Given the description of an element on the screen output the (x, y) to click on. 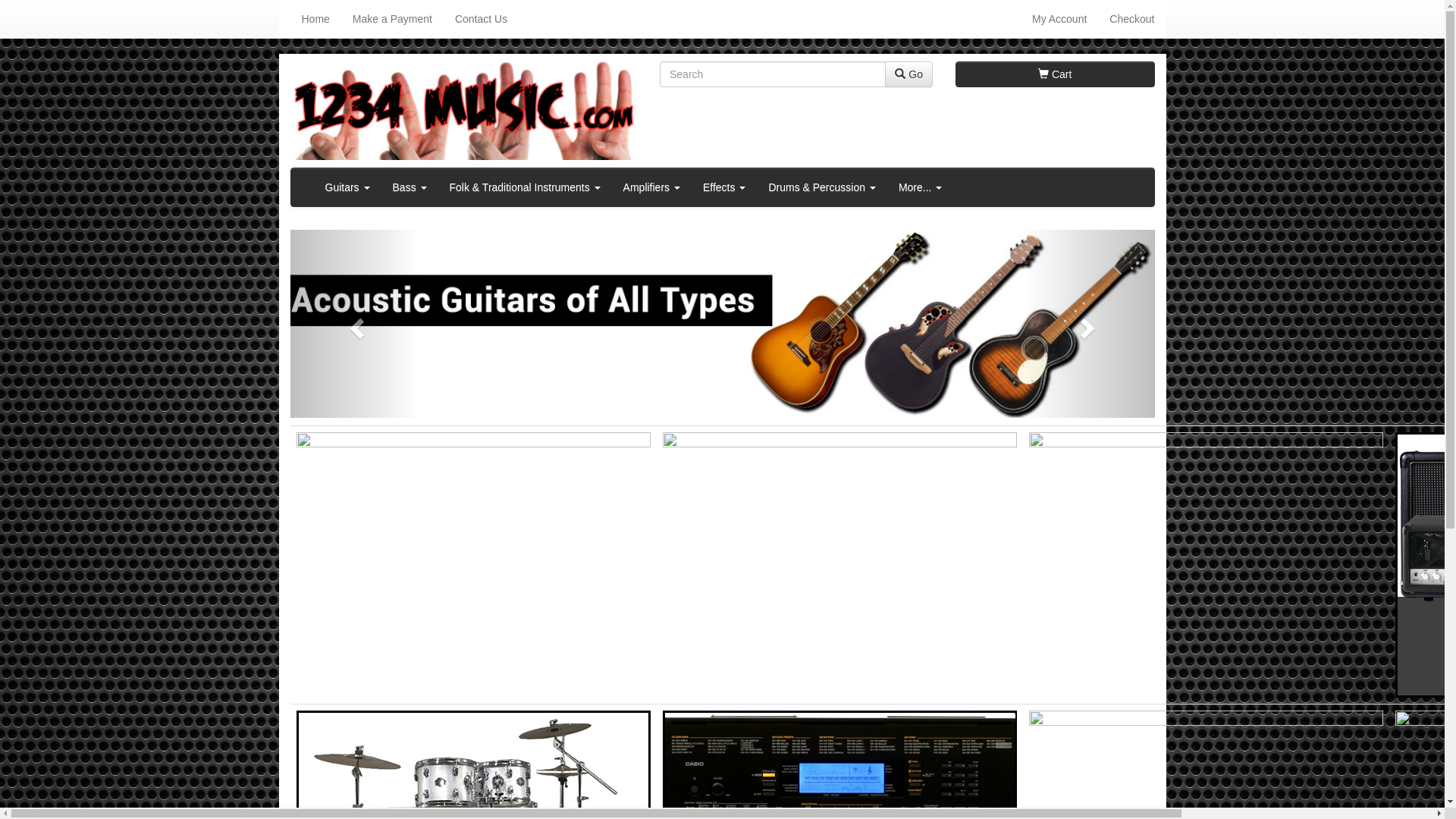
Cart Element type: text (1054, 74)
My Account Element type: text (1059, 18)
Next Element type: text (1089, 323)
Folk & Traditional Instruments Element type: text (524, 187)
Checkout Element type: text (1131, 18)
Home Element type: text (314, 18)
Shop Electric Guitars Element type: hover (472, 564)
Previous Element type: text (354, 323)
Make a Payment Element type: text (392, 18)
Amplifiers Element type: text (651, 187)
Bass Element type: text (409, 187)
Guitars Element type: text (347, 187)
Effects Element type: text (723, 187)
Contact Us Element type: text (480, 18)
Shop Bass Guitars Element type: hover (839, 564)
More... Element type: text (920, 187)
Drums & Percussion Element type: text (821, 187)
Go Element type: text (908, 74)
Shop Acoustic Guitars Element type: hover (1205, 564)
